Given the description of an element on the screen output the (x, y) to click on. 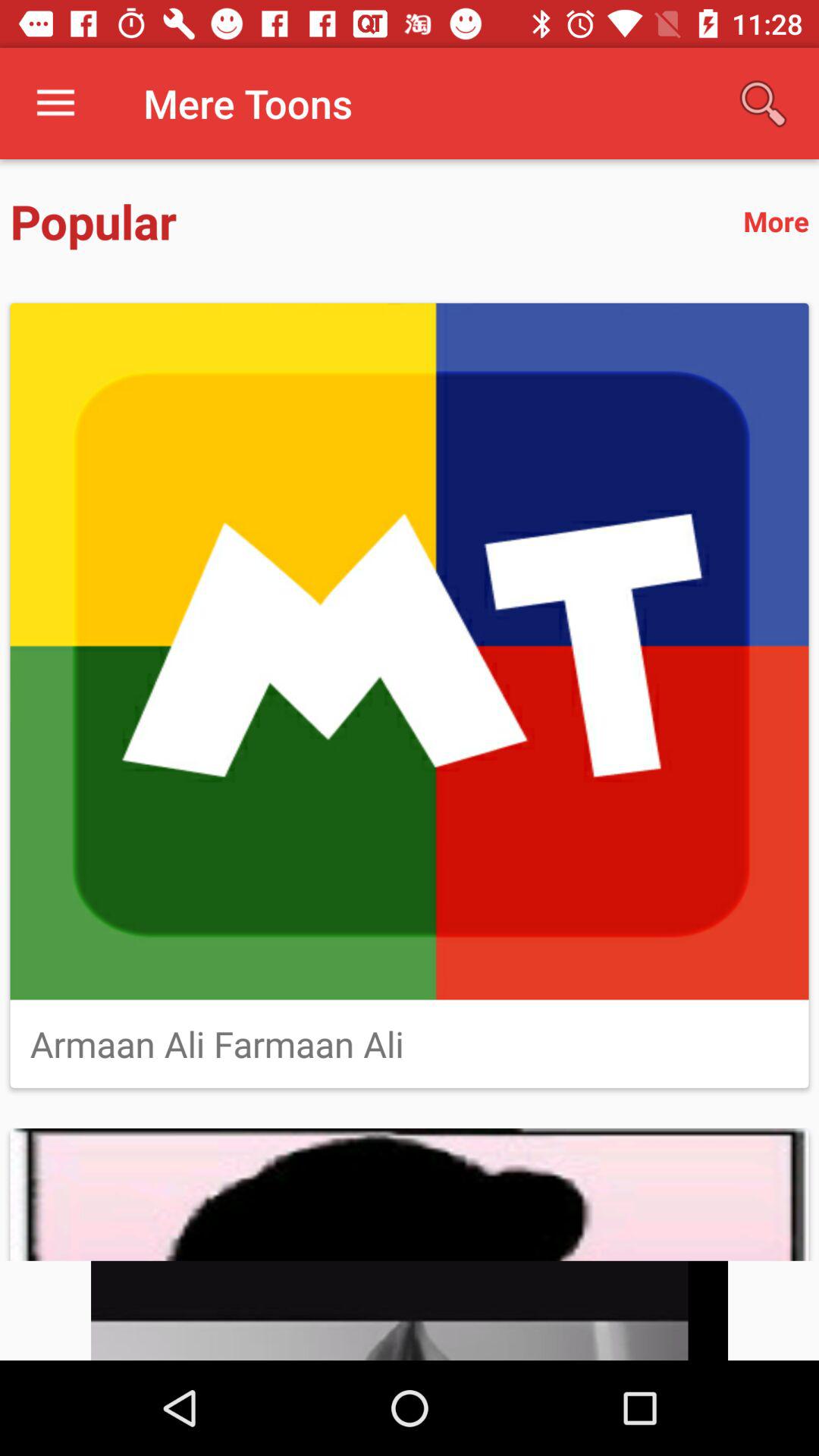
choose the icon next to popular item (775, 221)
